Given the description of an element on the screen output the (x, y) to click on. 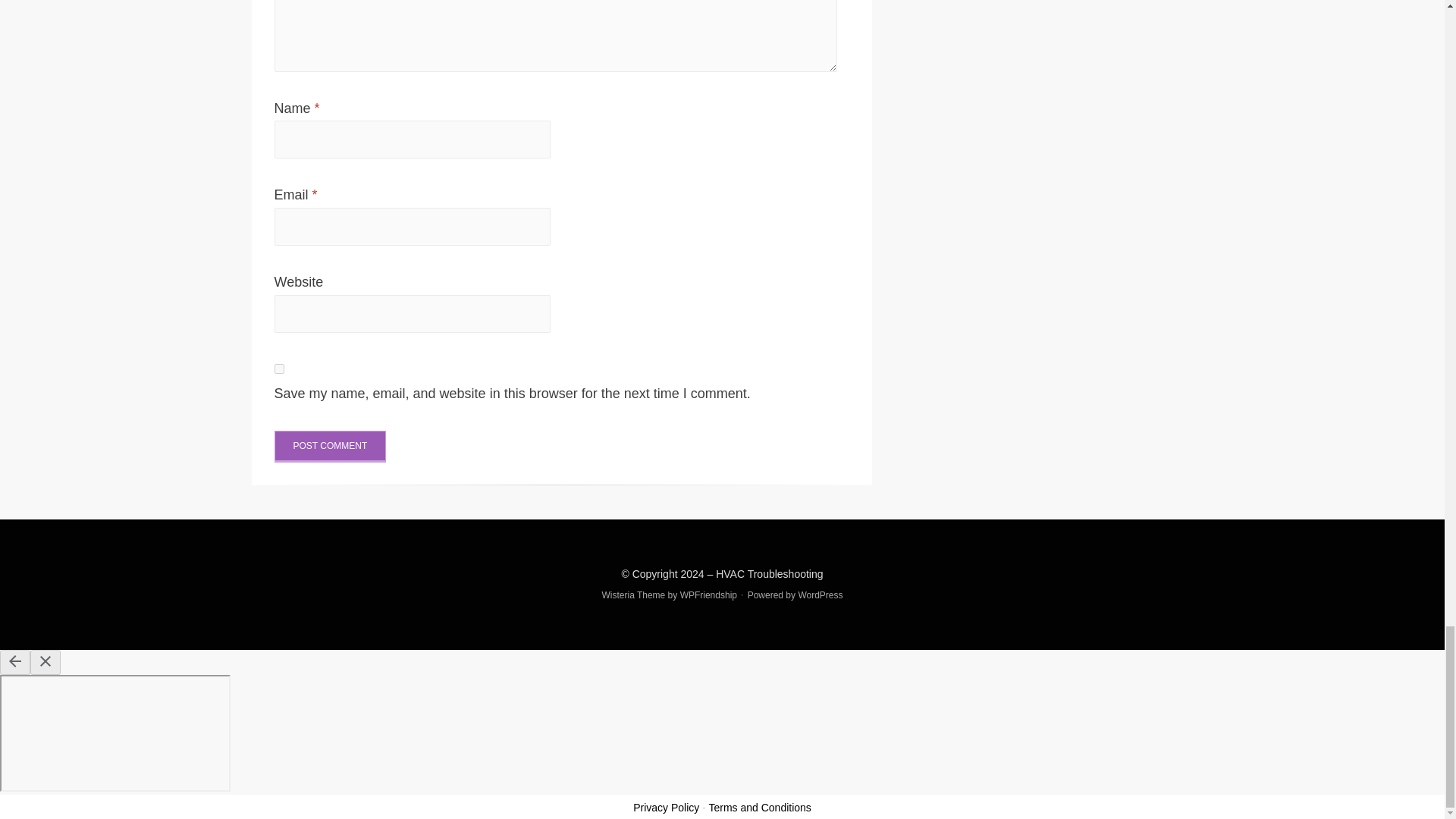
WPFriendship (707, 594)
WordPress (820, 594)
Post Comment (331, 446)
Post Comment (331, 446)
yes (279, 368)
